Given the description of an element on the screen output the (x, y) to click on. 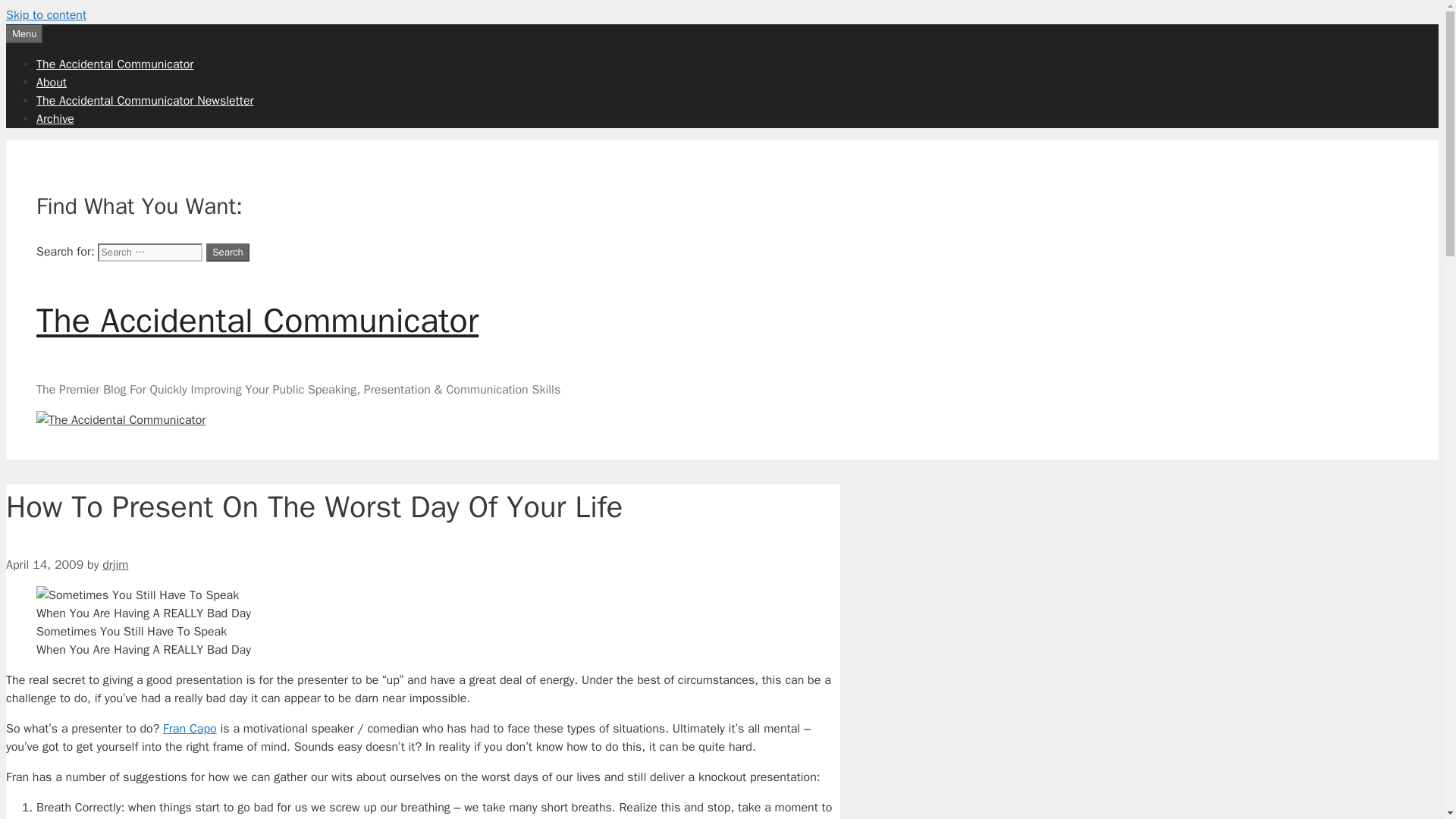
Fran Capo (189, 728)
About (51, 82)
Search (227, 252)
Search (227, 252)
Search for: (149, 252)
Search (227, 252)
The Accidental Communicator (114, 64)
Archive (55, 118)
View all posts by drjim (114, 564)
